Given the description of an element on the screen output the (x, y) to click on. 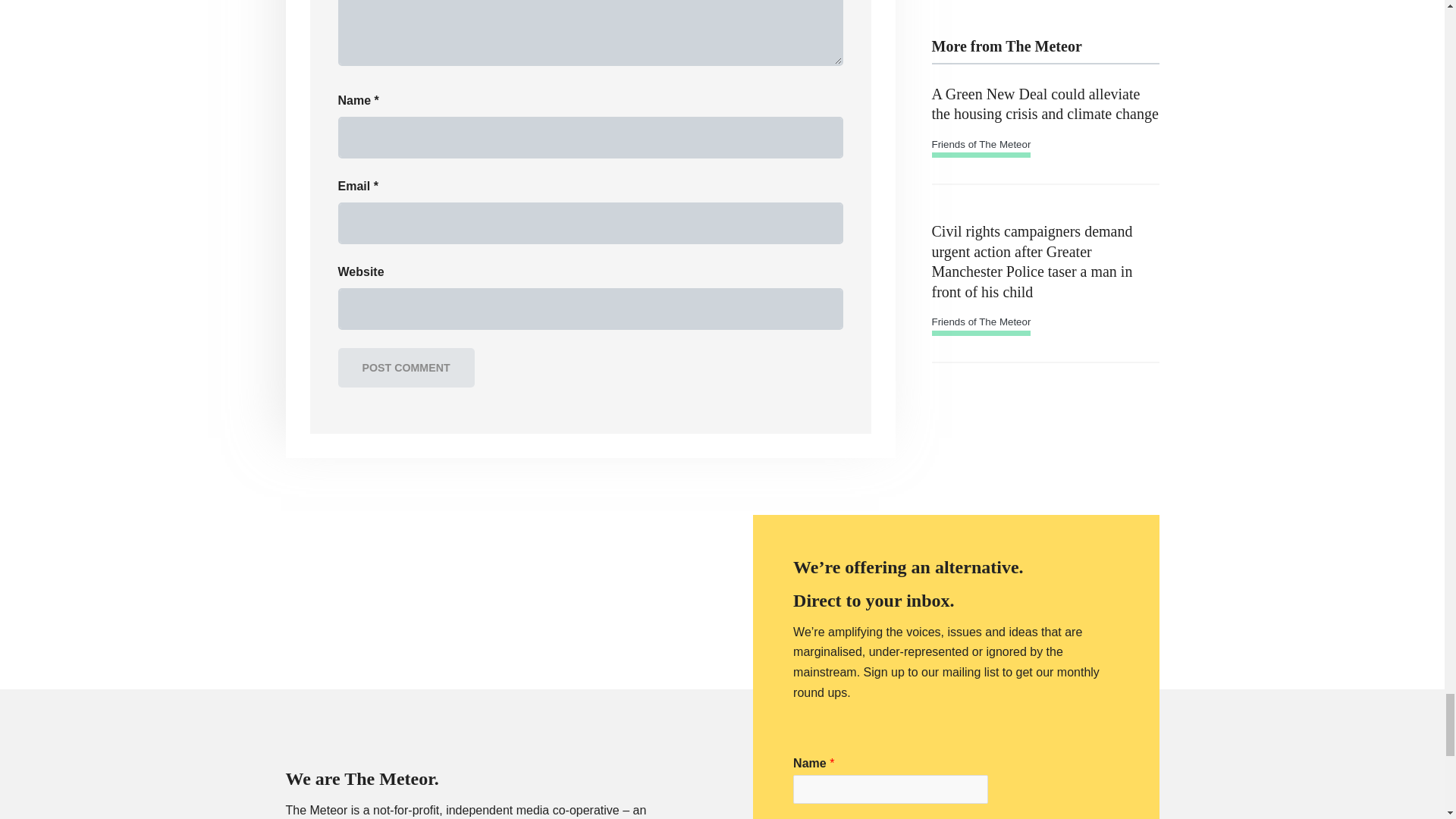
Post Comment (405, 368)
